Given the description of an element on the screen output the (x, y) to click on. 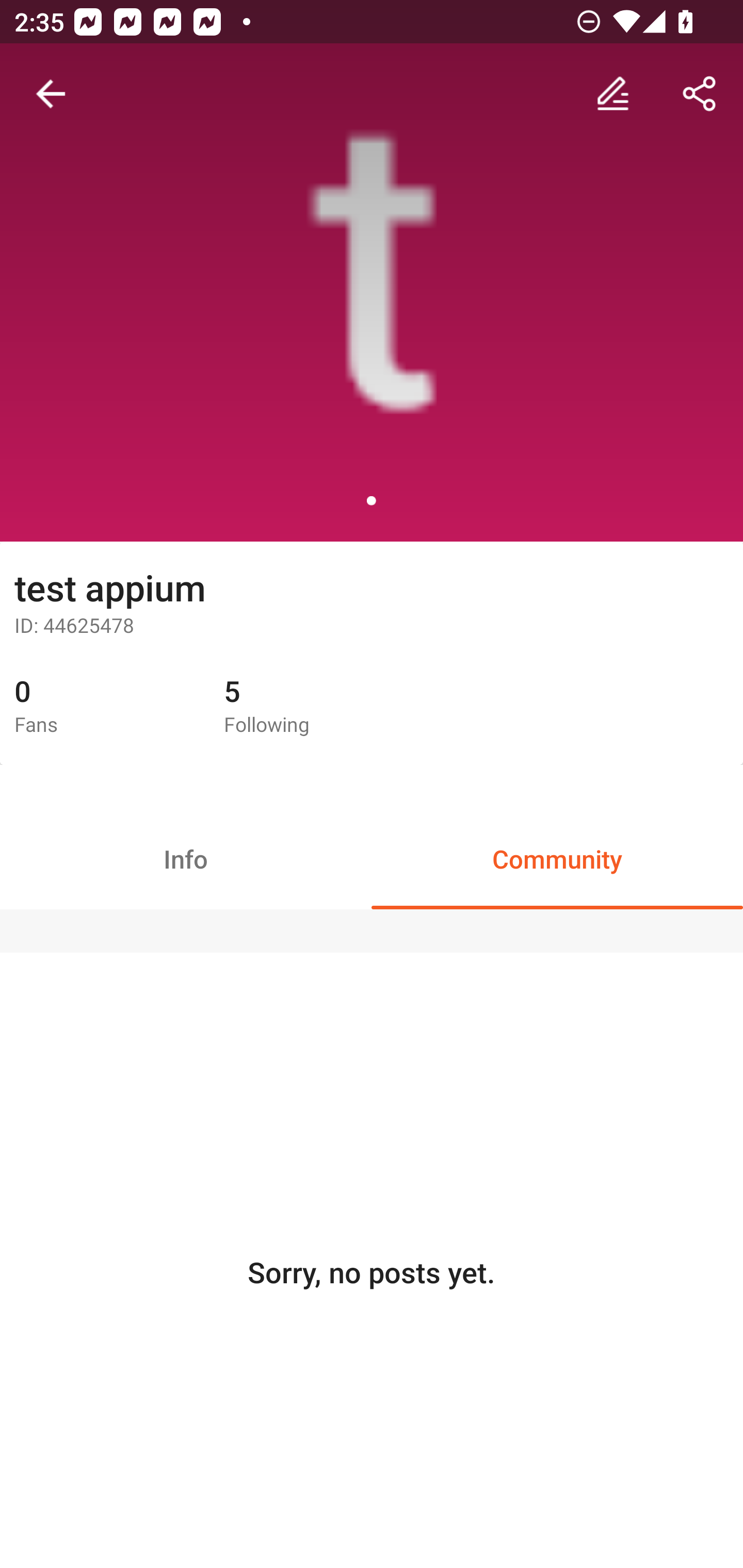
Navigate up (50, 93)
Edit (612, 93)
Share (699, 93)
0 Fans (104, 707)
5 Following (313, 707)
Info (185, 858)
Community (557, 858)
